Given the description of an element on the screen output the (x, y) to click on. 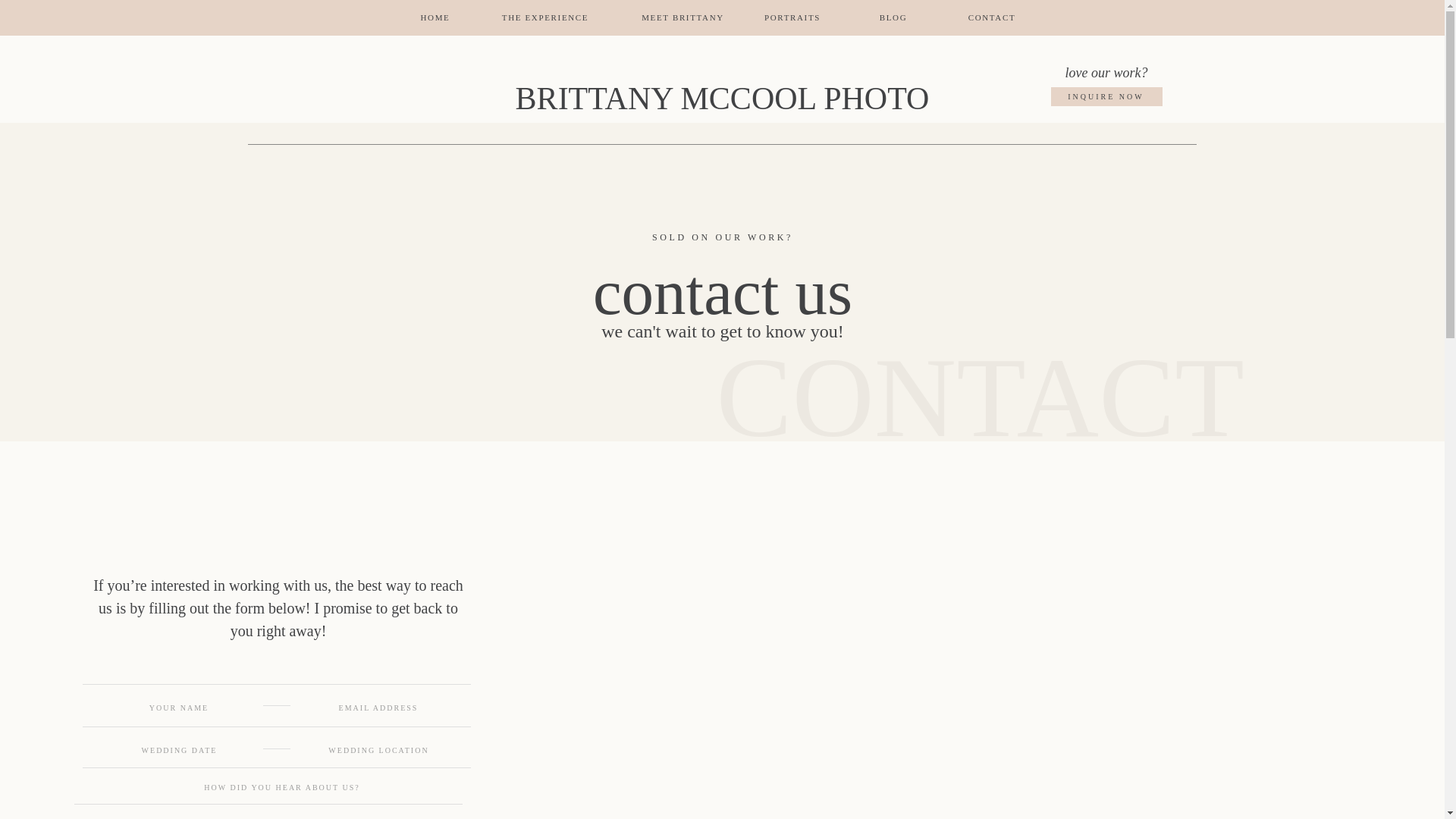
THE EXPERIENCE (544, 18)
INQUIRE NOW (1105, 104)
MEET BRITTANY (682, 18)
HOME (435, 18)
CONTACT (992, 18)
PORTRAITS (791, 18)
BLOG (893, 18)
BRITTANY MCCOOL PHOTO (722, 100)
